Given the description of an element on the screen output the (x, y) to click on. 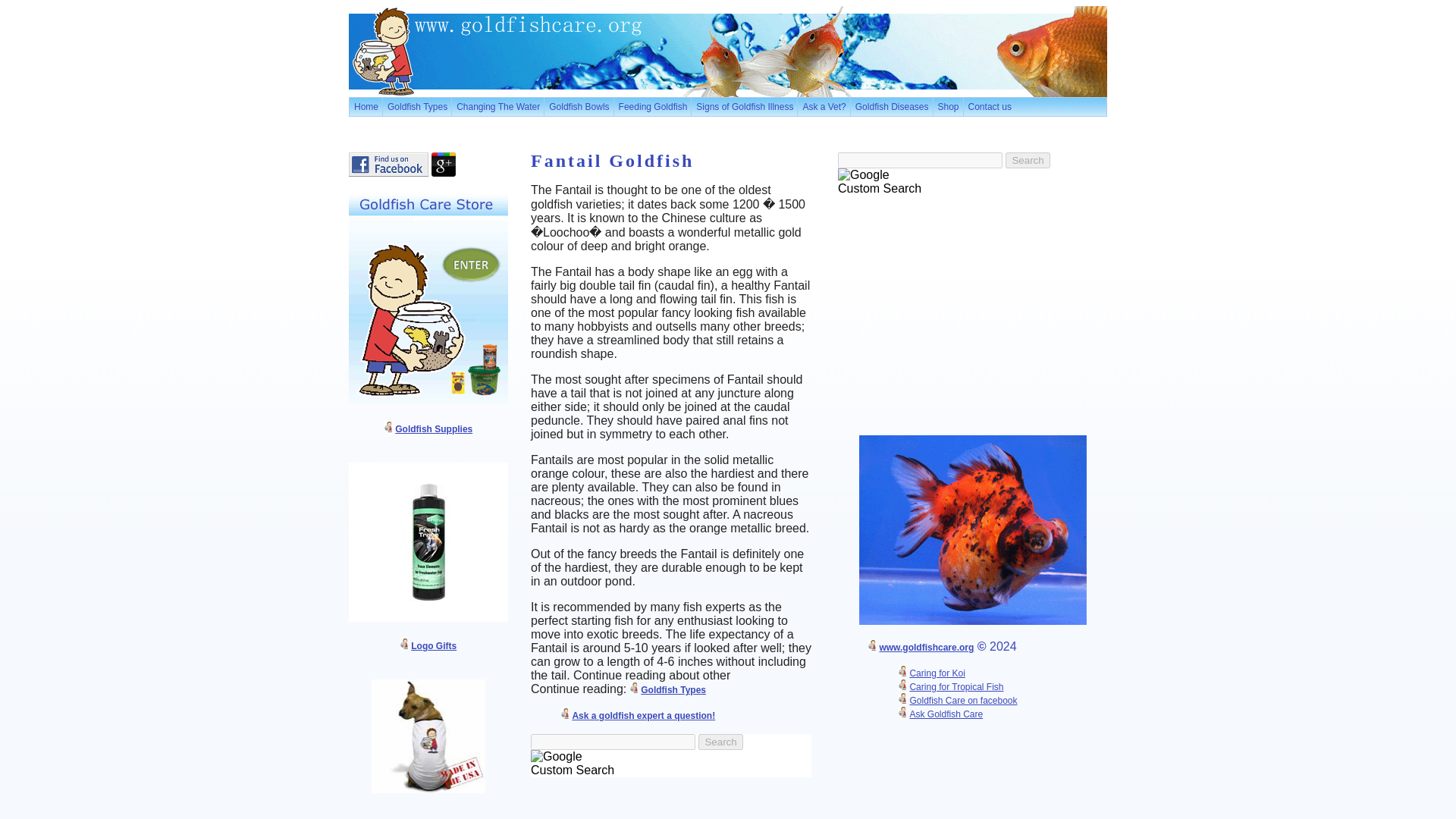
Advertisement (971, 314)
Ask a Vet? (822, 106)
Goldfish Types (673, 689)
Be kind to your goldfish (727, 51)
Search (720, 741)
Home (365, 106)
Goldfish Supplies (428, 541)
Goldfish Supplies (432, 429)
Search (1027, 160)
Changing The Water (497, 106)
Logo Gifts (433, 645)
Ask Goldfish Care (945, 714)
Goldfish Diseases (891, 106)
Caring for Koi (935, 673)
pictures of different goldfish (972, 529)
